Given the description of an element on the screen output the (x, y) to click on. 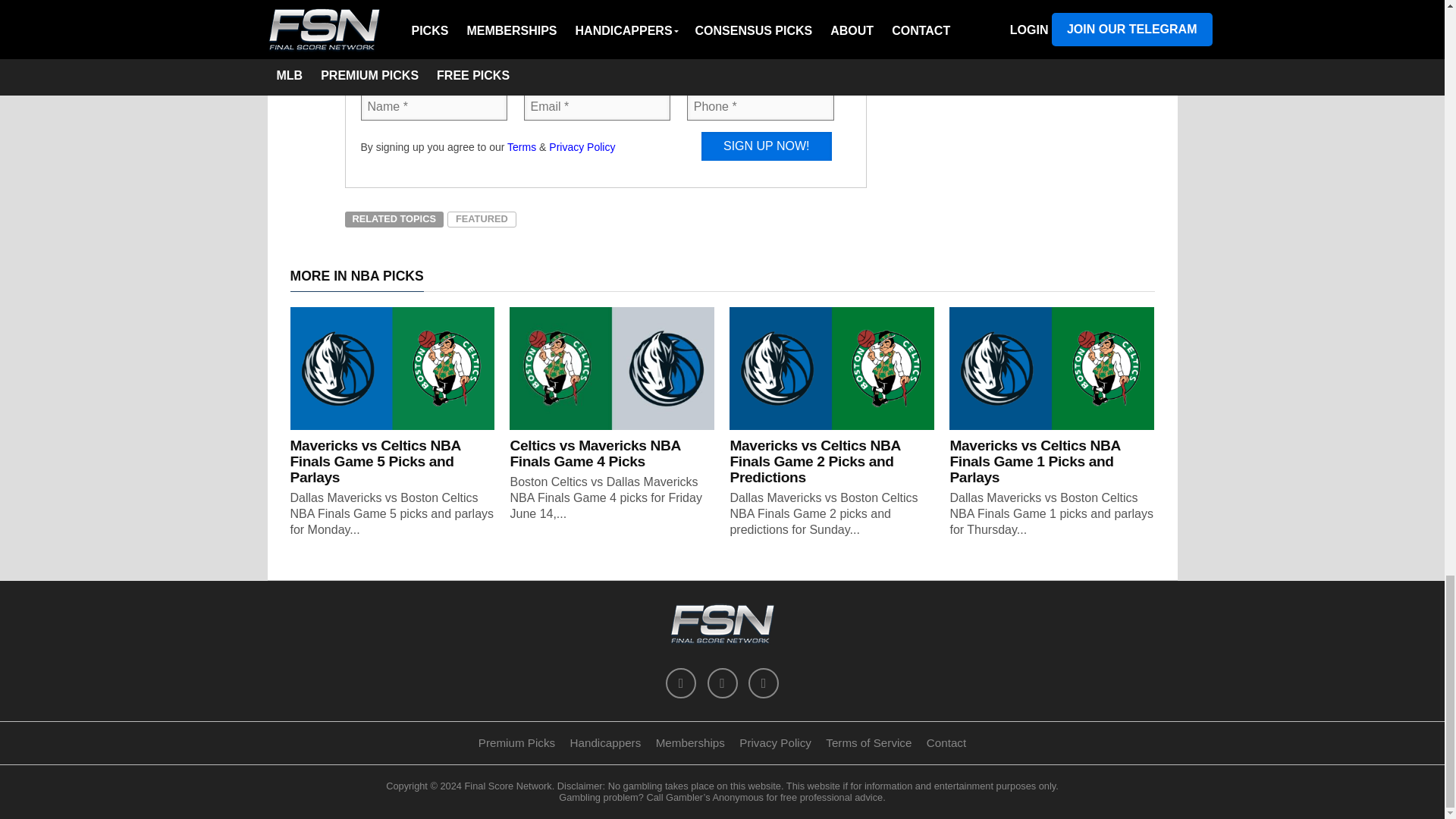
SIGN UP NOW! (766, 145)
